Given the description of an element on the screen output the (x, y) to click on. 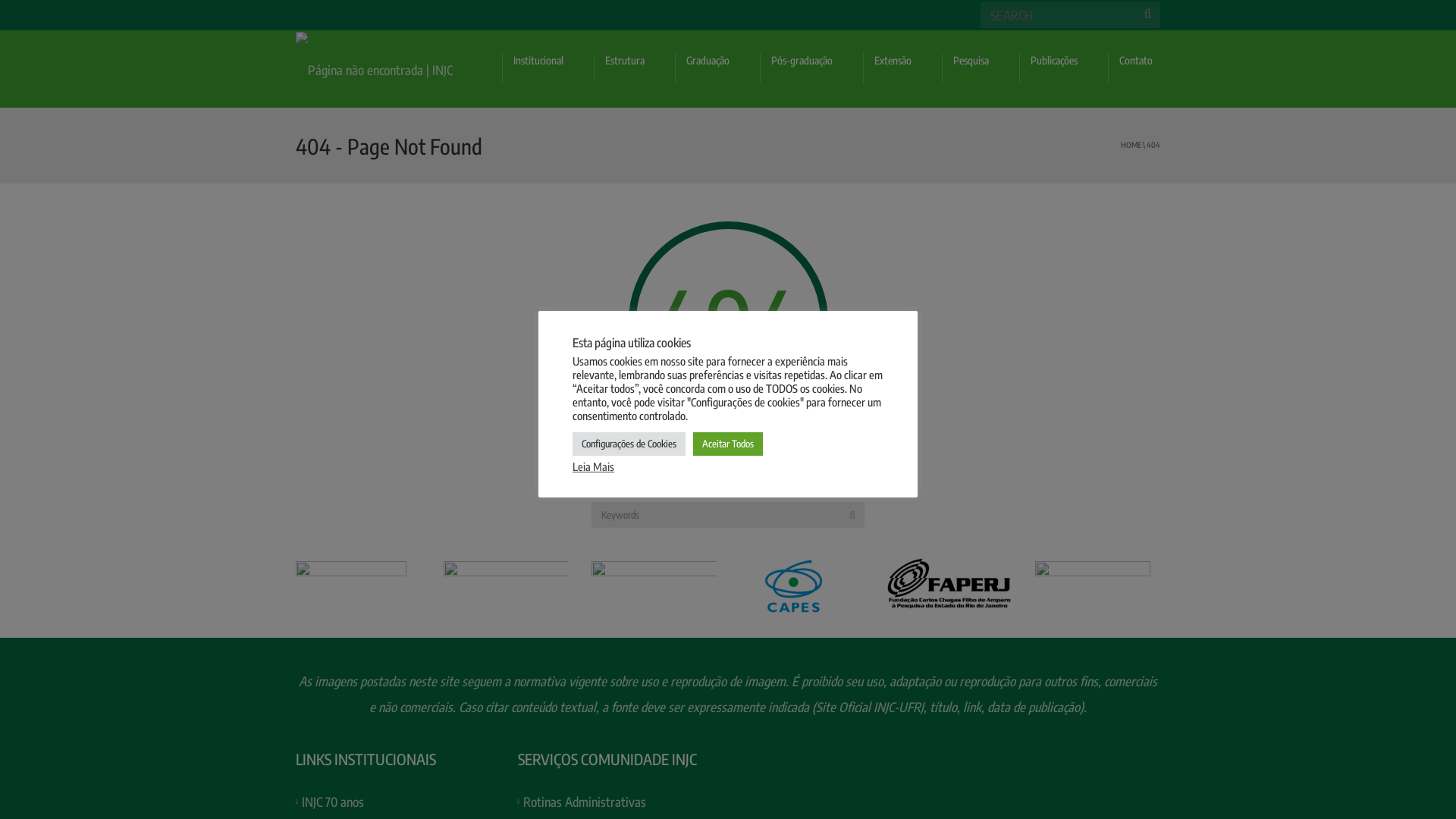
Pesquisa Element type: text (980, 68)
HOME Element type: text (1130, 144)
Contato Element type: text (1145, 68)
Rotinas Administrativas Element type: text (584, 801)
INJC 70 anos Element type: text (332, 801)
Pesquisar Element type: text (40, 18)
Leia Mais Element type: text (593, 466)
Estrutura Element type: text (633, 68)
Aceitar Todos Element type: text (727, 443)
Search Element type: hover (852, 514)
Institucional Element type: text (547, 68)
